Given the description of an element on the screen output the (x, y) to click on. 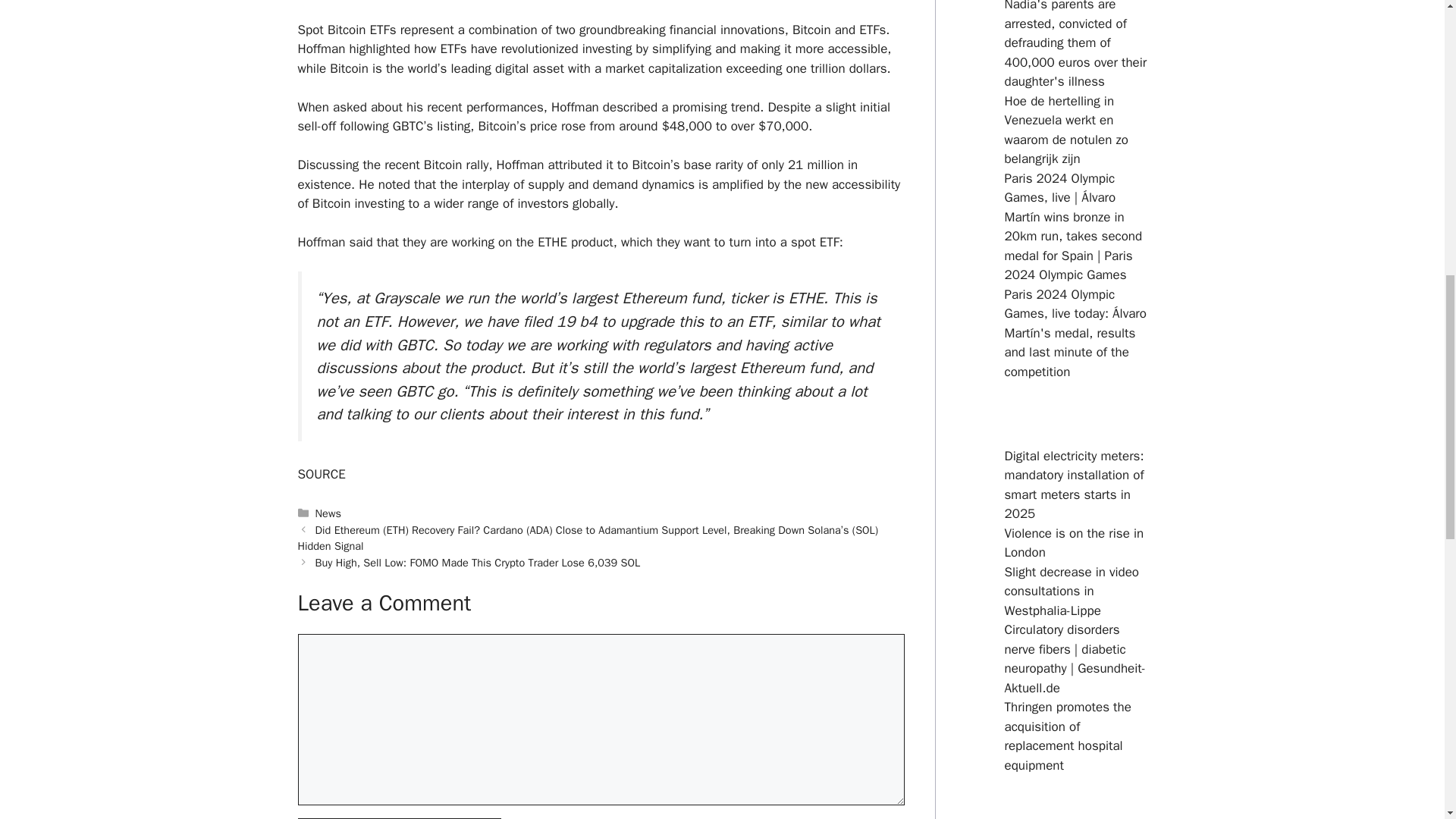
Slight decrease in video consultations in Westphalia-Lippe (1071, 591)
Violence is on the rise in London (1073, 543)
News (327, 513)
SOURCE (321, 474)
